Given the description of an element on the screen output the (x, y) to click on. 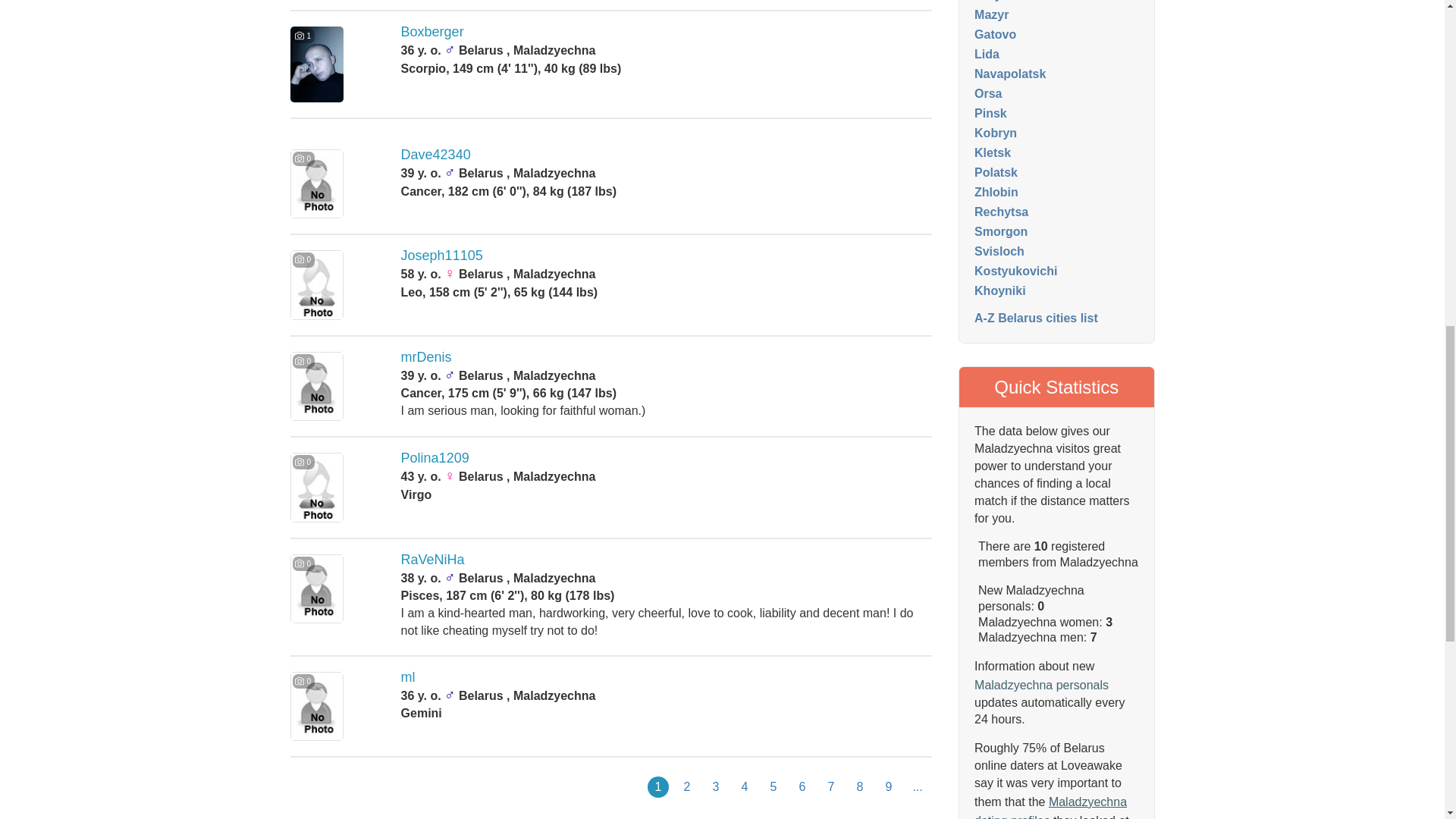
Dave42340 (435, 154)
Joseph11105 (442, 255)
ml (407, 676)
Boxberger (432, 31)
RaVeNiHa (432, 559)
Polina1209 (434, 458)
mrDenis (426, 356)
